Given the description of an element on the screen output the (x, y) to click on. 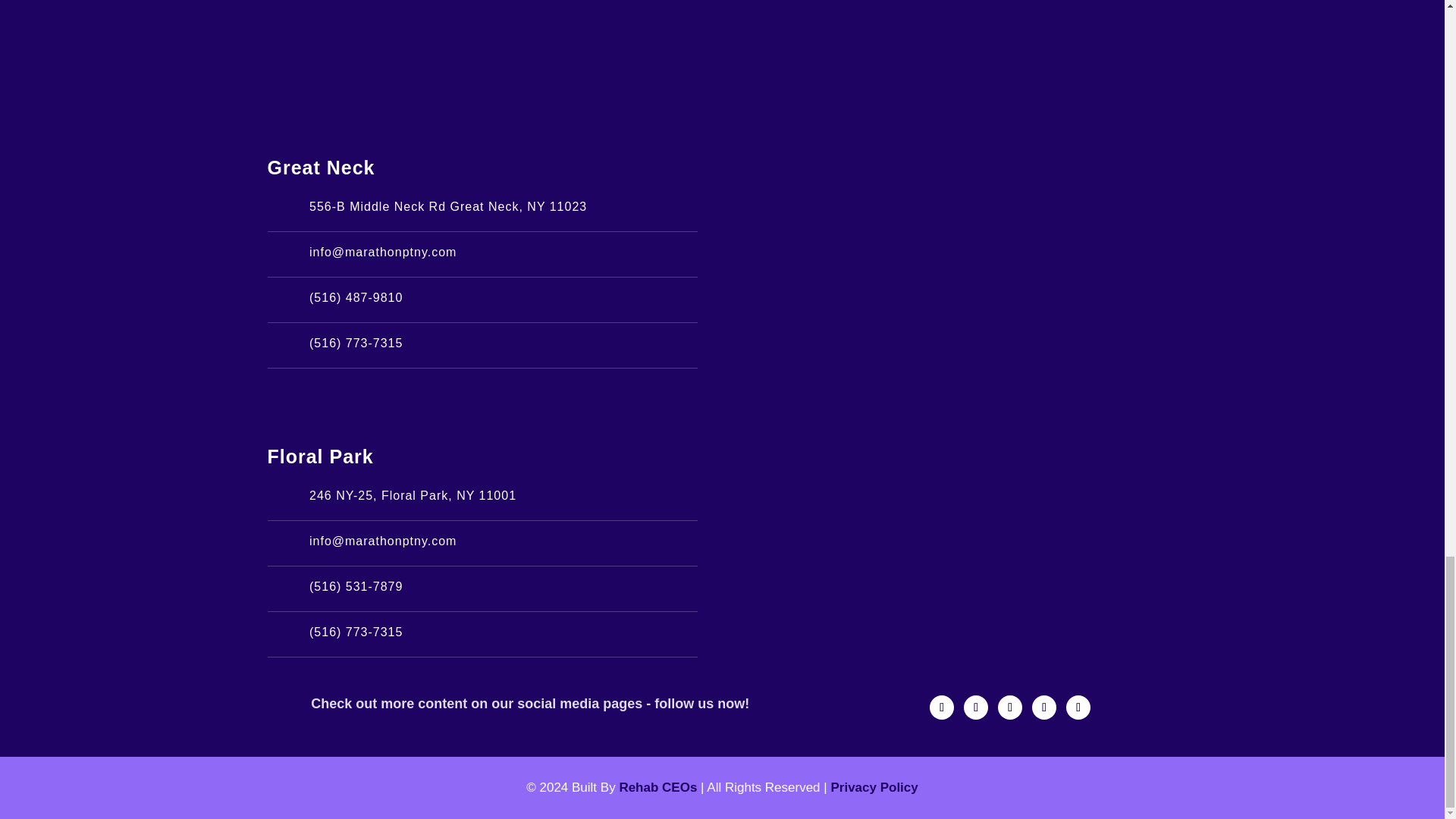
Follow on TikTok (1009, 707)
Follow on Instagram (975, 707)
Follow on Youtube (1077, 707)
Follow on Facebook (941, 707)
cropped-image5.jpg (721, 47)
Follow on LinkedIn (1044, 707)
